Given the description of an element on the screen output the (x, y) to click on. 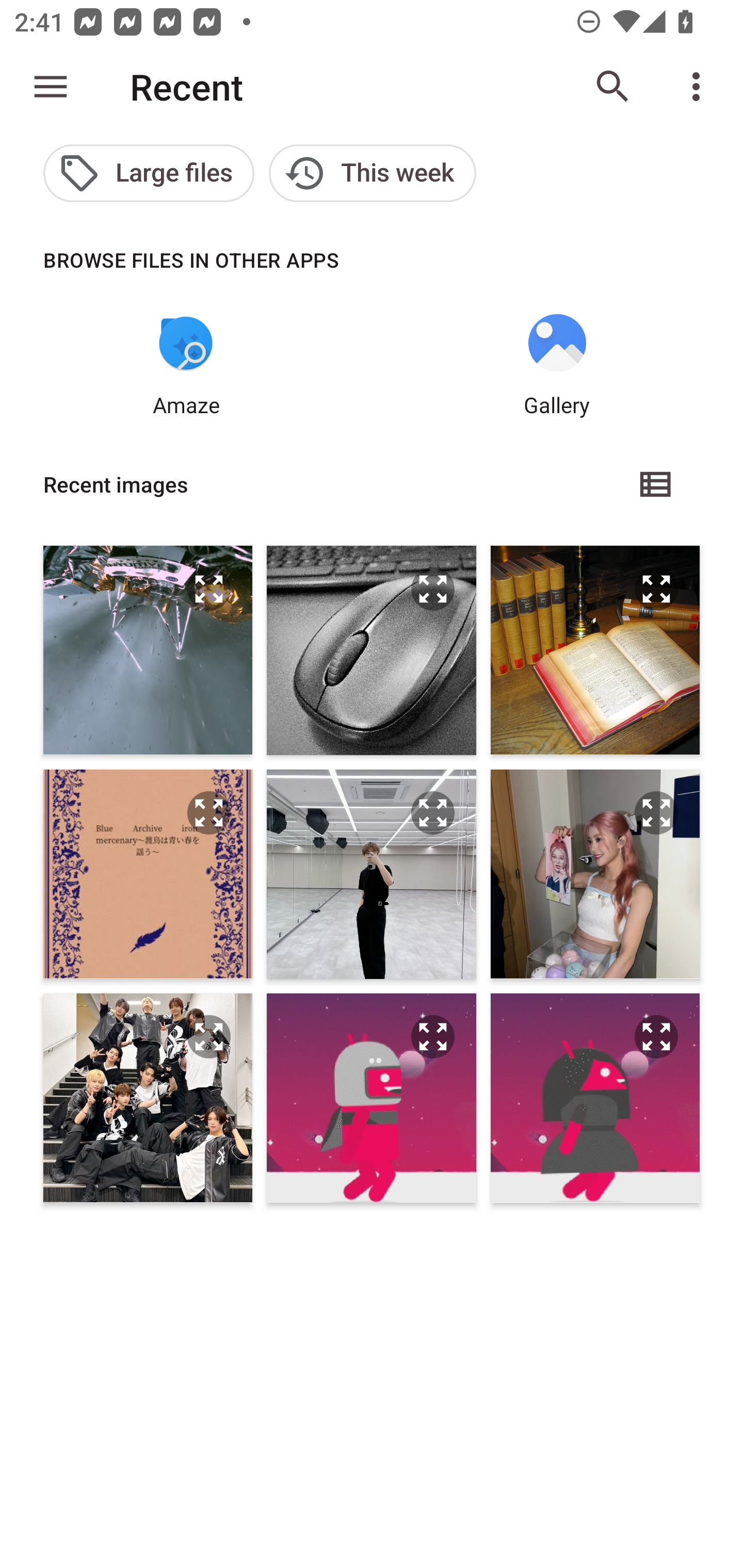
Show roots (50, 86)
Search (612, 86)
More options (699, 86)
Large files (148, 173)
This week (372, 173)
Amaze (185, 365)
Gallery (557, 365)
List view (655, 484)
Preview the file done.jpg (208, 588)
Preview the file Latin dictionary.jpg (655, 588)
Preview the file IMG_20240205_090359.jpg (432, 1037)
Preview the file IMG_20240205_085101.jpg (655, 1037)
